Given the description of an element on the screen output the (x, y) to click on. 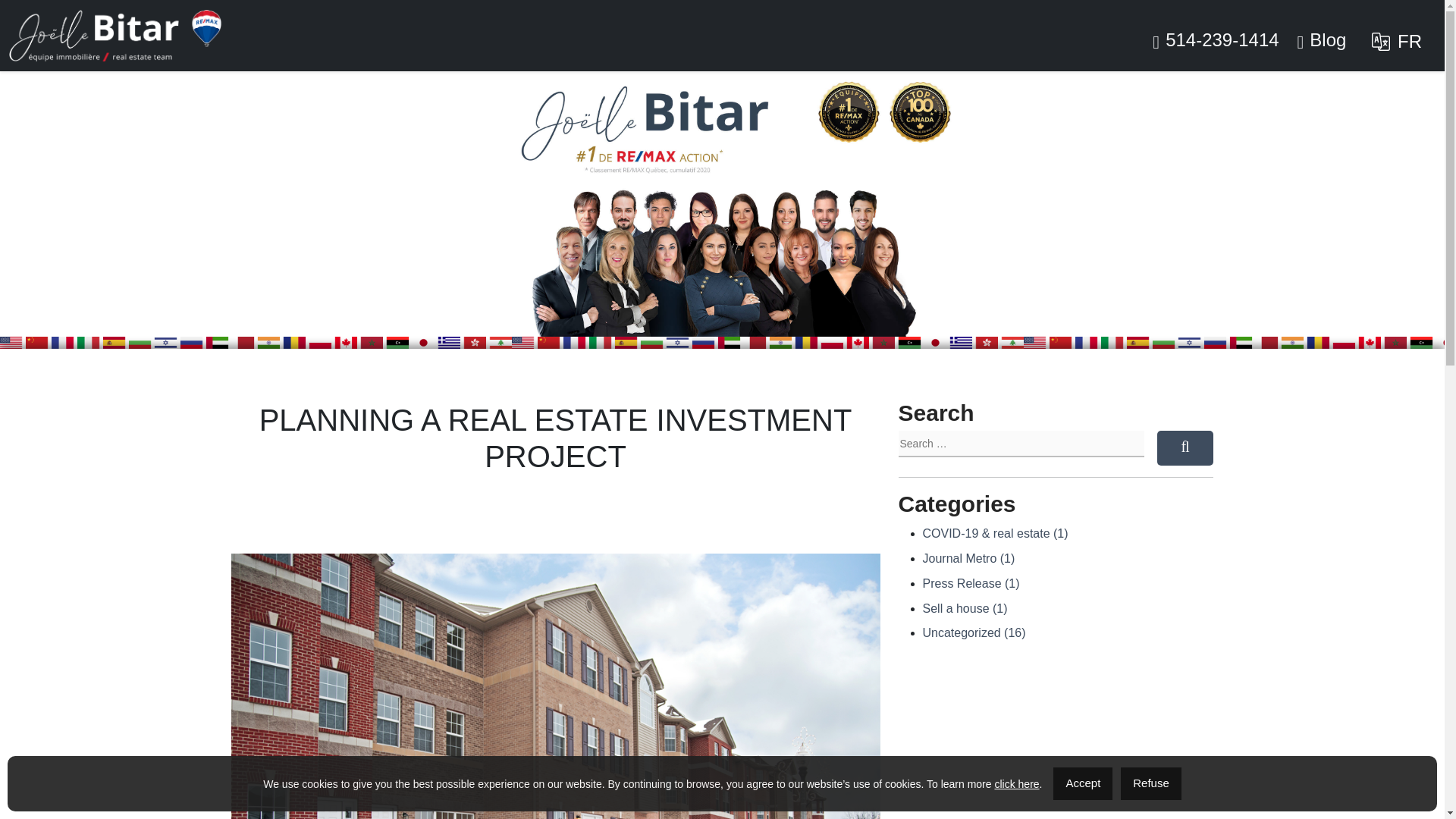
click here (1016, 784)
Press Release (970, 583)
Search for: (1020, 443)
Accept (1082, 783)
Refuse (1150, 783)
Blog (1321, 39)
Uncategorized (973, 632)
Sell a house (964, 608)
FR (1396, 41)
Journal Metro (967, 558)
